Given the description of an element on the screen output the (x, y) to click on. 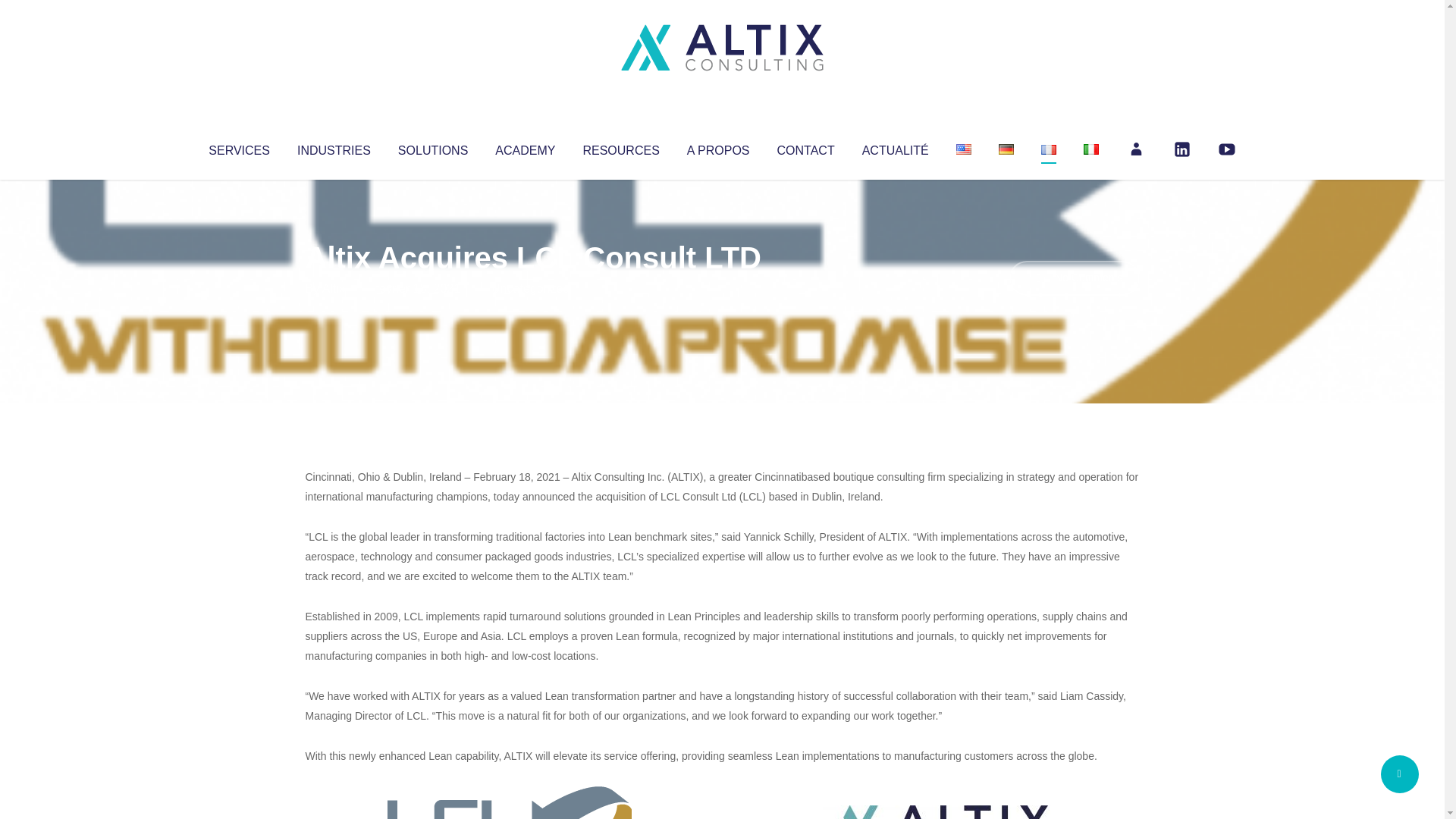
Articles par Altix (333, 287)
A PROPOS (718, 146)
ACADEMY (524, 146)
No Comments (1073, 278)
SERVICES (238, 146)
RESOURCES (620, 146)
SOLUTIONS (432, 146)
Uncategorized (530, 287)
Altix (333, 287)
INDUSTRIES (334, 146)
